Given the description of an element on the screen output the (x, y) to click on. 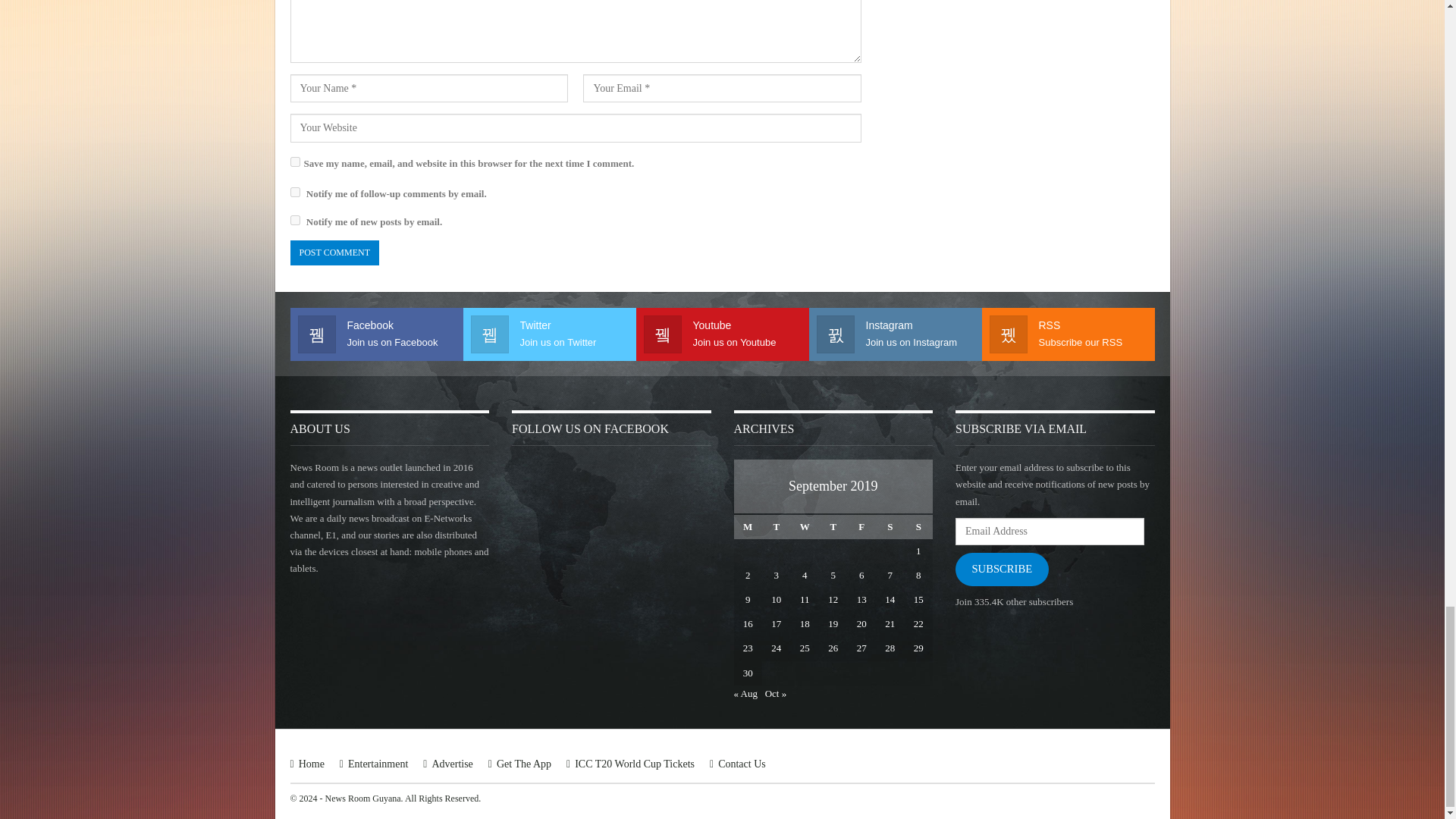
subscribe (294, 192)
yes (294, 162)
subscribe (294, 220)
Post Comment (333, 252)
